Given the description of an element on the screen output the (x, y) to click on. 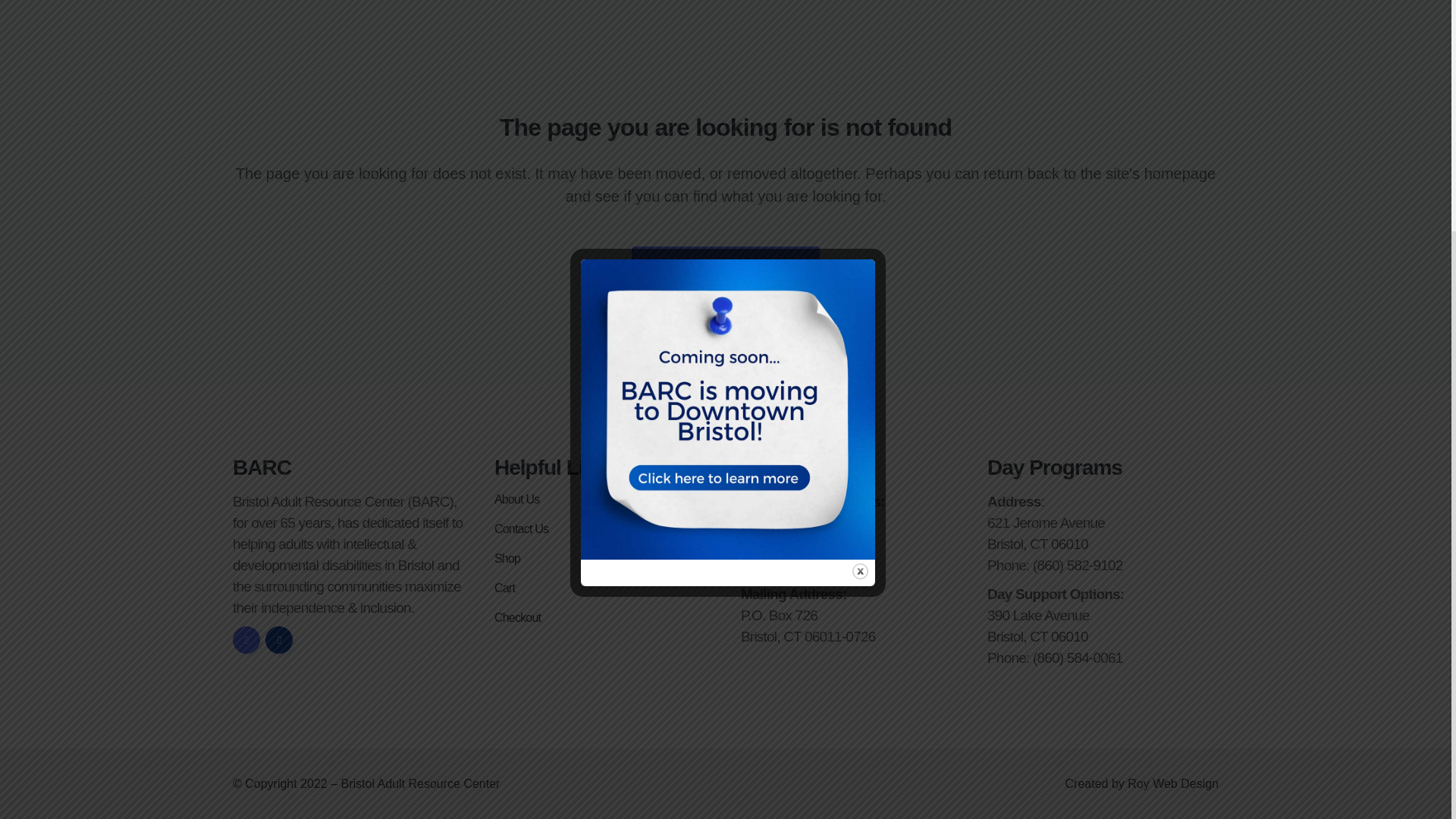
Close (859, 248)
CT Web Design (1172, 783)
